Given the description of an element on the screen output the (x, y) to click on. 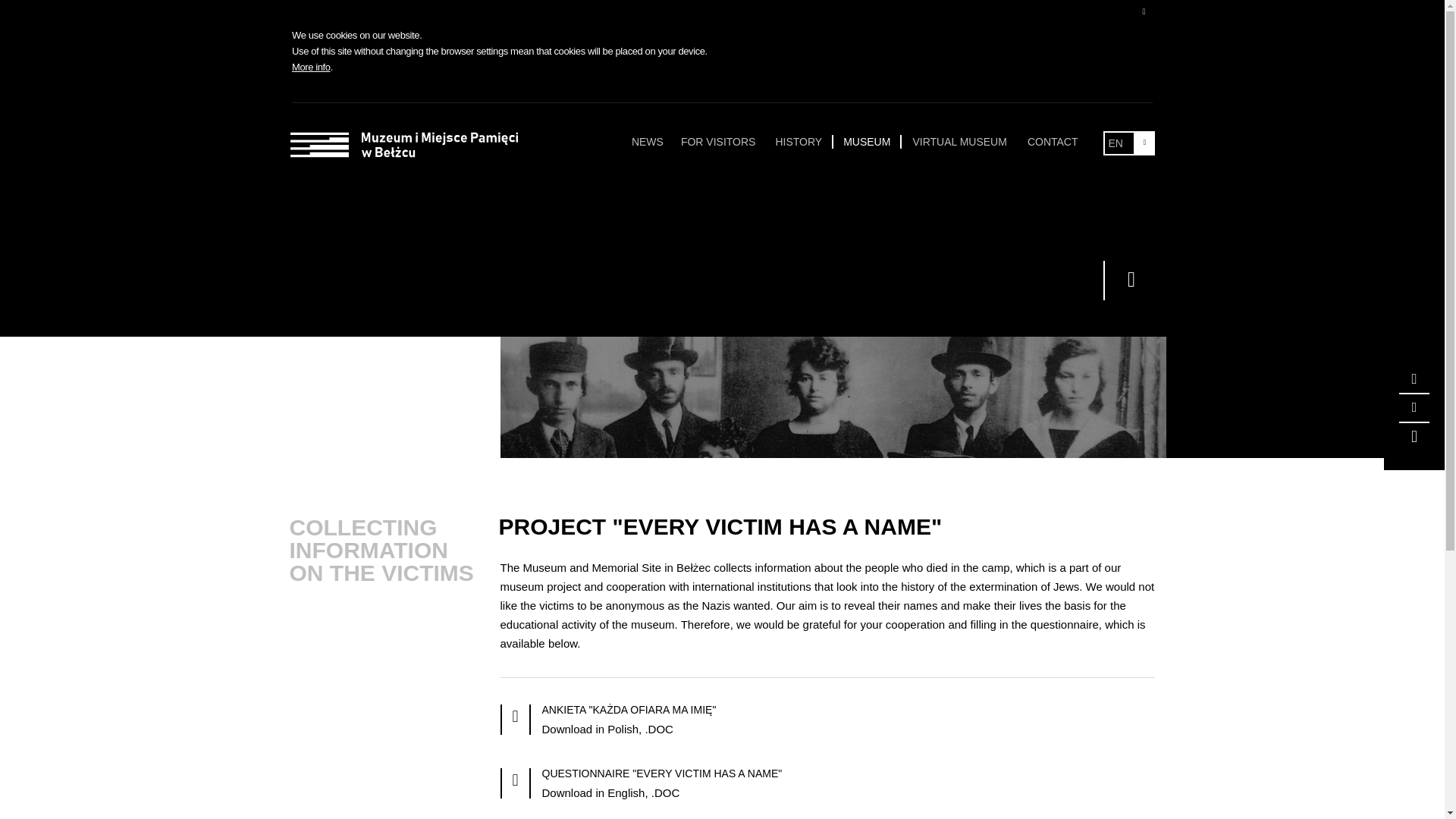
FOR VISITORS (718, 141)
Sitemap (1414, 436)
Change contrast (1414, 408)
More info (311, 66)
Enlarge the font size (1414, 378)
NEWS (647, 141)
